Given the description of an element on the screen output the (x, y) to click on. 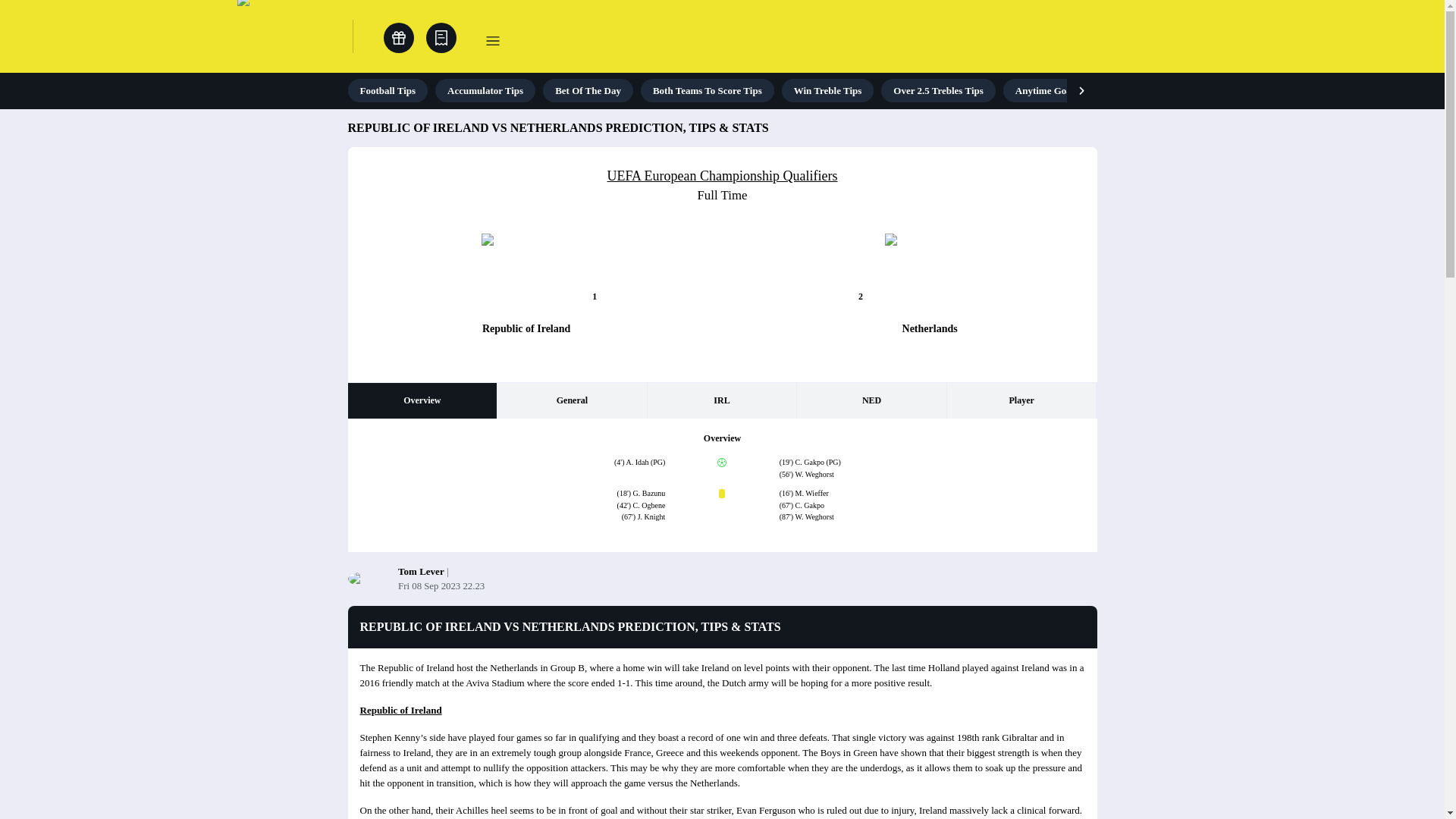
UEFA European Championship Qualifiers (721, 176)
Skybet Request A Bet (1197, 90)
Accumulator Tips (485, 90)
Both Teams To Score Tips (707, 90)
Overview (421, 400)
Sky Bet BuildABet Tips (1324, 90)
Over 2.5 Trebles Tips (937, 90)
Bet Of The Day (588, 90)
Win Treble Tips (828, 90)
Open bet slip (441, 37)
